Given the description of an element on the screen output the (x, y) to click on. 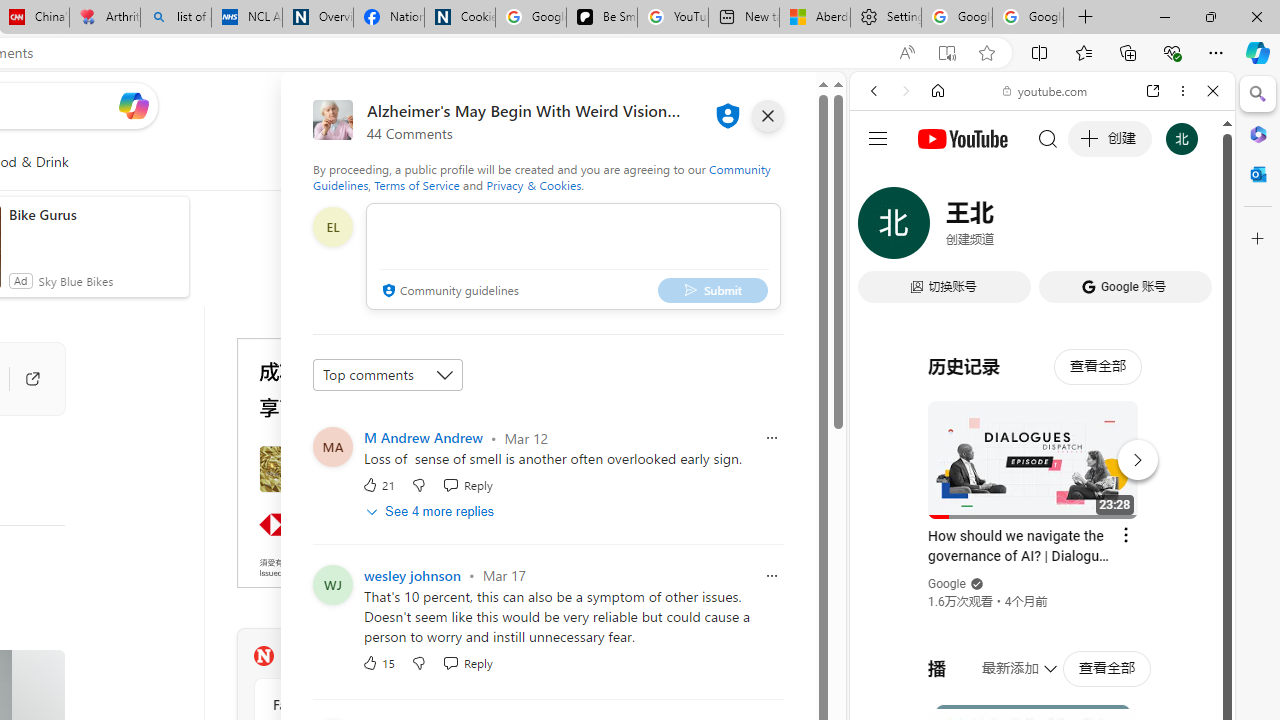
Read aloud this page (Ctrl+Shift+U) (906, 53)
Add this page to favorites (Ctrl+D) (986, 53)
New tab (744, 17)
Dislike (418, 662)
Back (874, 91)
Search Filter, VIDEOS (1006, 228)
Go to publisher's site (22, 378)
Sky Blue Bikes (75, 280)
Settings (886, 17)
Arthritis: Ask Health Professionals (104, 17)
IMAGES (939, 228)
list of asthma inhalers uk - Search (175, 17)
This site scope (936, 180)
